Given the description of an element on the screen output the (x, y) to click on. 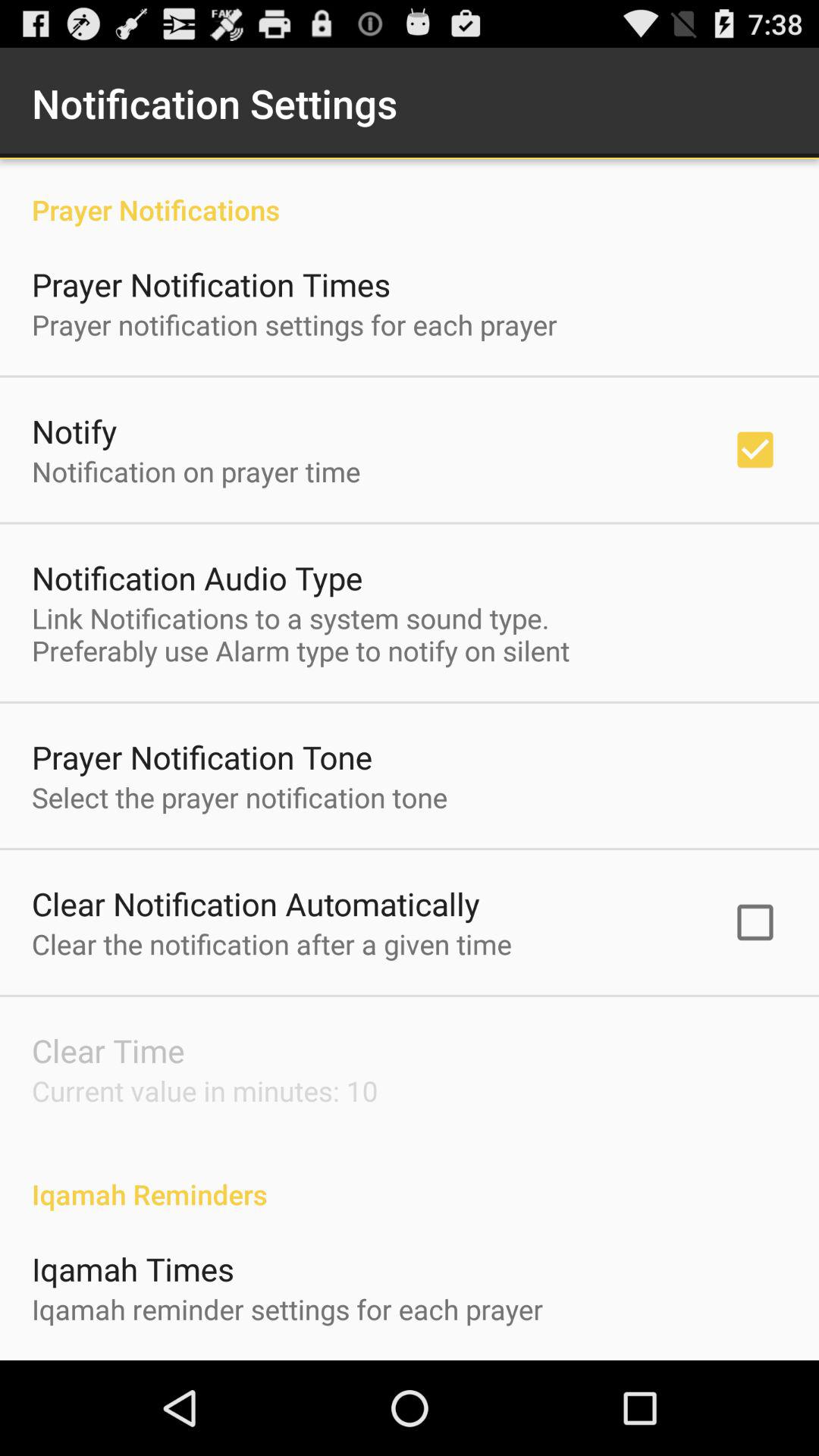
launch icon below current value in (409, 1178)
